Given the description of an element on the screen output the (x, y) to click on. 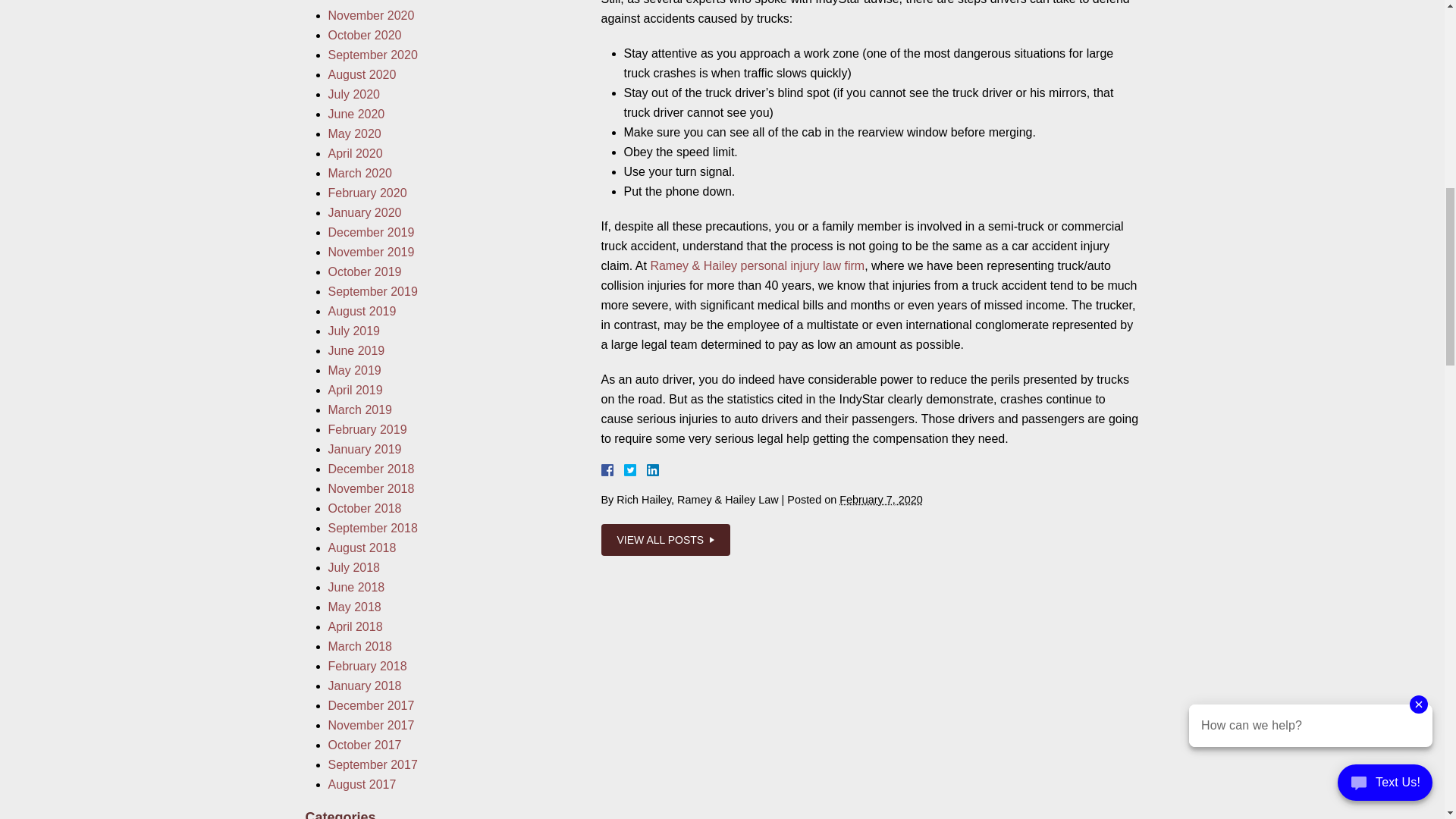
2020-02-07T15:43:33-0800 (881, 499)
